Given the description of an element on the screen output the (x, y) to click on. 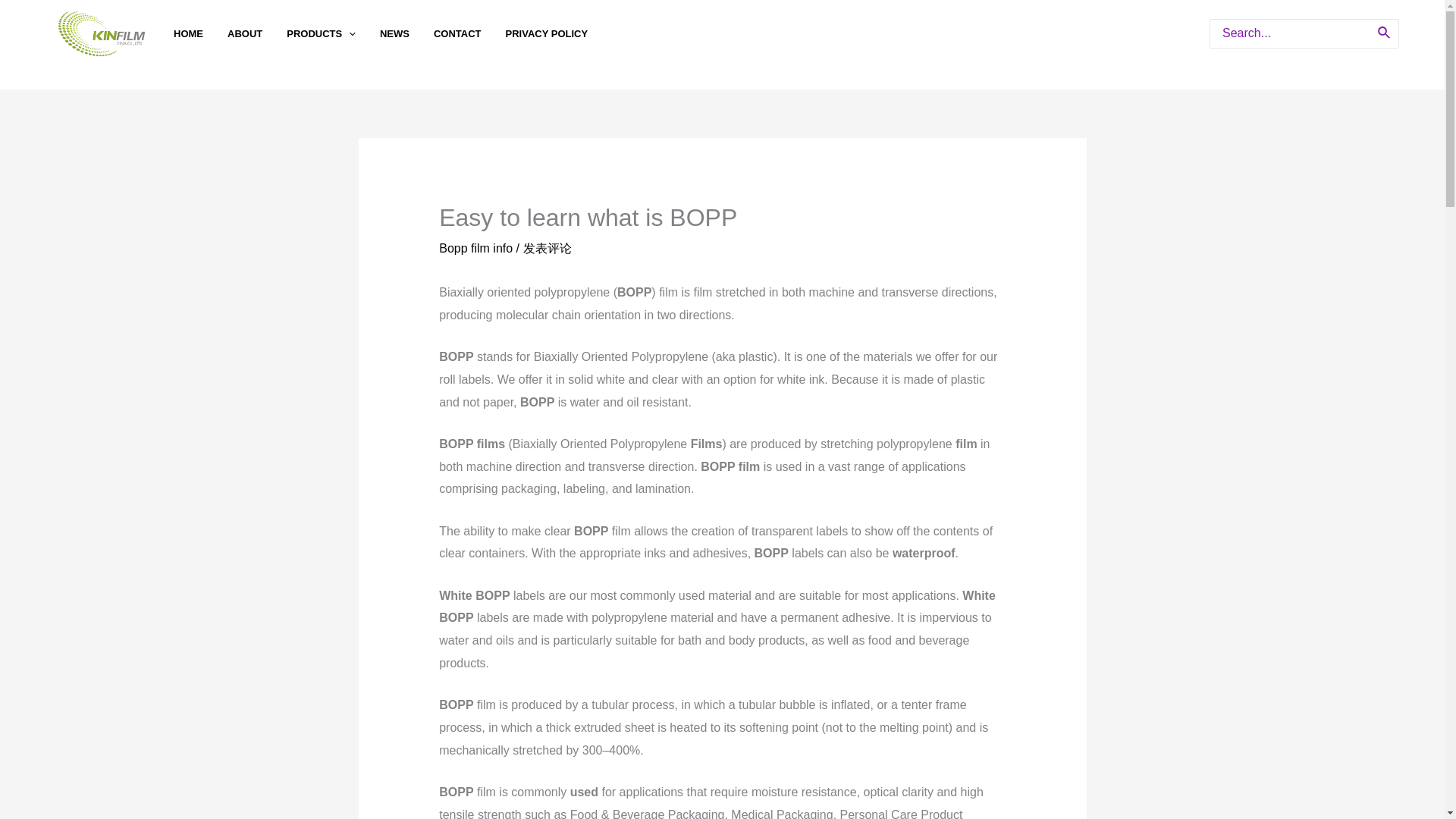
ABOUT (256, 33)
PRODUCTS (333, 33)
CONTACT (469, 33)
NEWS (406, 33)
Bopp film info (475, 247)
HOME (200, 33)
PRIVACY POLICY (558, 33)
